Given the description of an element on the screen output the (x, y) to click on. 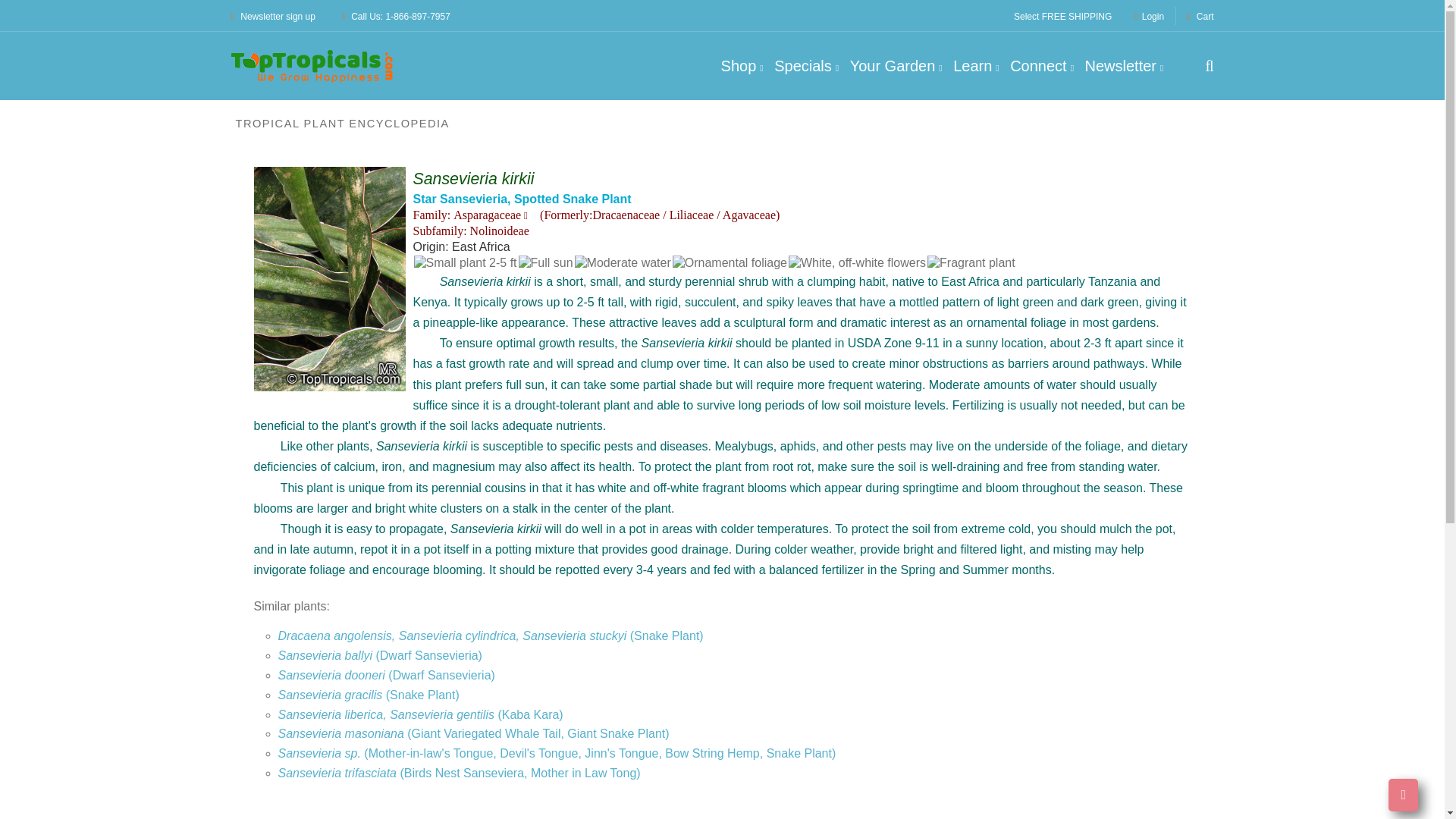
White, off-white flowers (857, 263)
Cart (1199, 16)
Fragrant plant (970, 263)
FREE SHIPPING (1077, 16)
Ornamental foliage (729, 263)
Newsletter sign up (272, 16)
Call Us: 1-866-897-7957 (394, 16)
Full sun (545, 263)
Login (1148, 16)
Shop (742, 66)
